Given the description of an element on the screen output the (x, y) to click on. 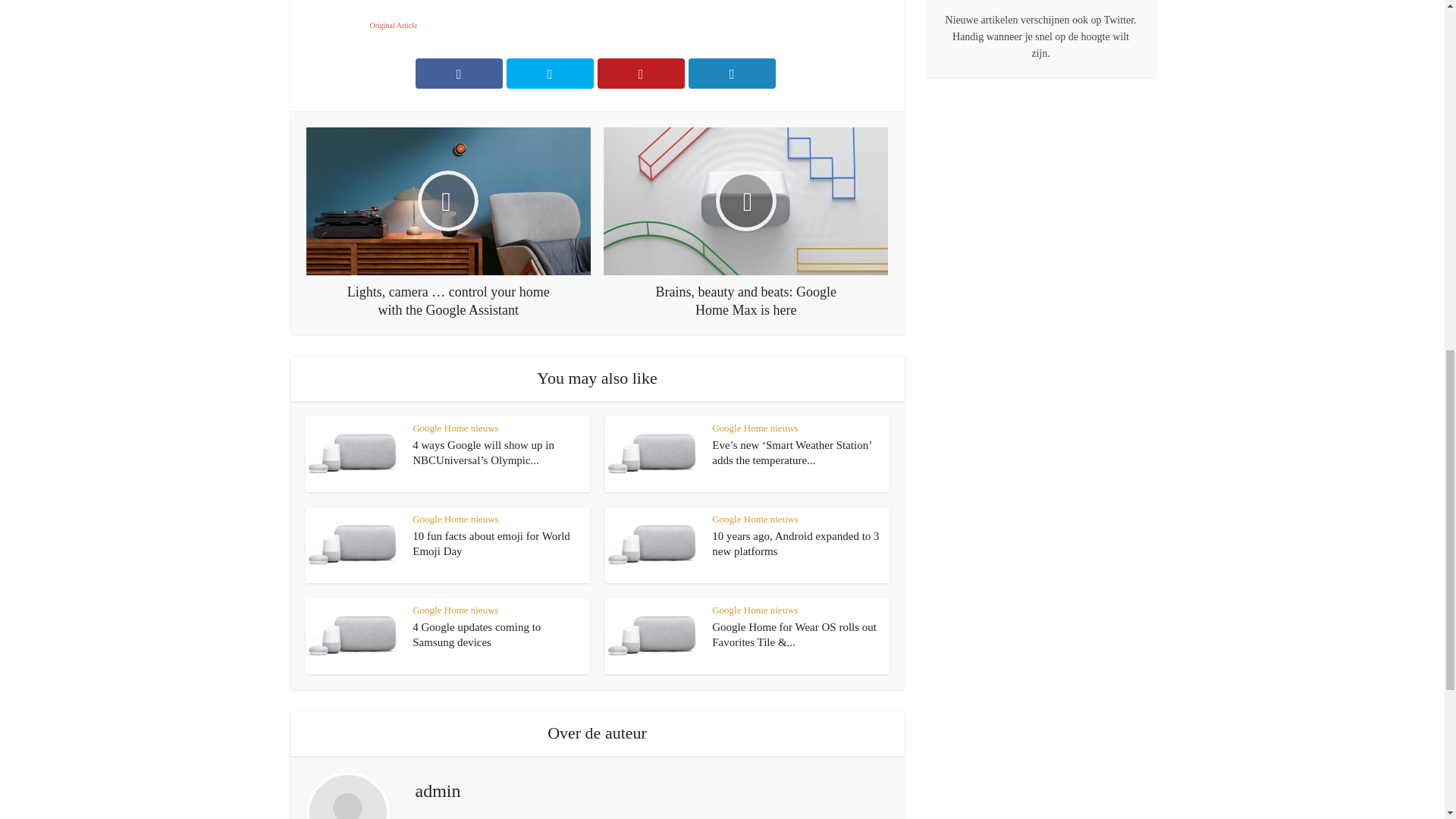
10 fun facts about emoji for World Emoji Day (491, 543)
10 years ago, Android expanded to 3 new platforms (795, 543)
Original Article (393, 25)
Google Home nieuws (454, 428)
4 Google updates coming to Samsung devices (476, 634)
Google Home nieuws (754, 428)
Brains, beauty and beats: Google Home Max is here (746, 223)
